Given the description of an element on the screen output the (x, y) to click on. 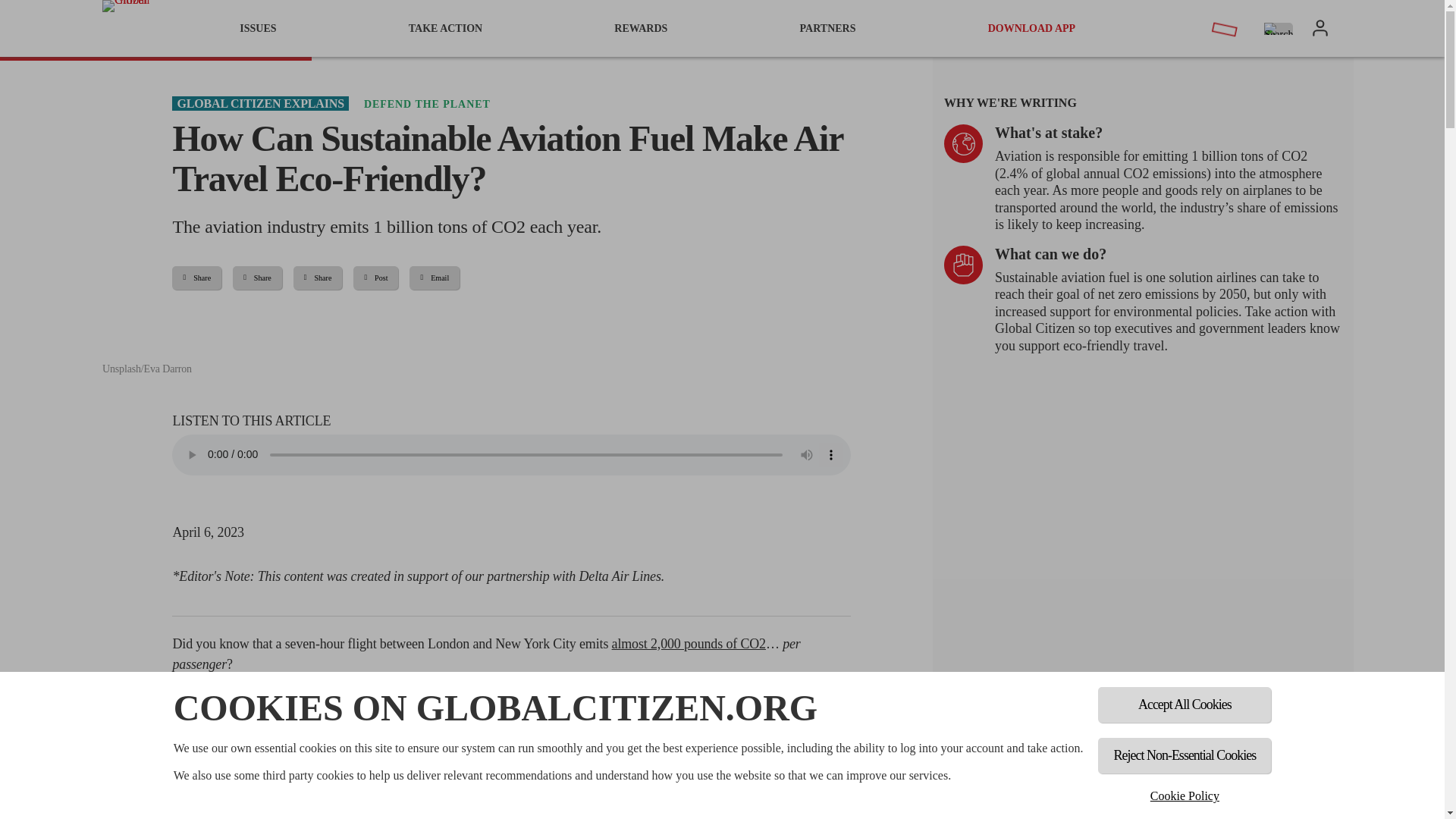
REWARDS (640, 28)
DEFEND THE PLANET (427, 103)
sail across the Atlantic ocean (716, 696)
Post (375, 277)
almost 2,000 pounds of CO2 (688, 643)
Email (434, 277)
Share (196, 277)
Defend the Planet (427, 103)
DOWNLOAD APP (1031, 28)
